Given the description of an element on the screen output the (x, y) to click on. 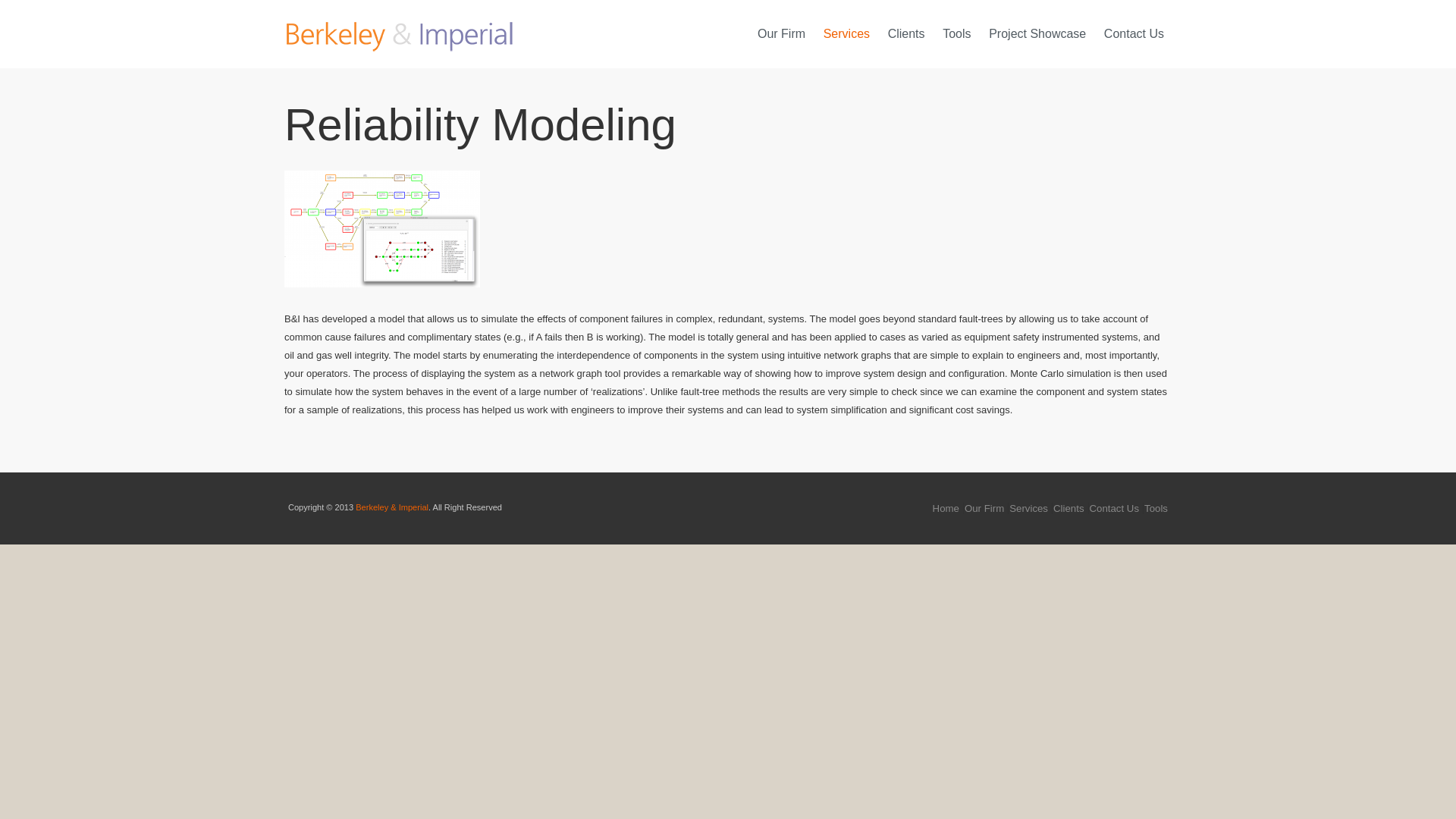
Tools (1155, 508)
Our Firm (780, 33)
Our Firm (983, 508)
Clients (1068, 508)
Project Showcase (1037, 33)
Contact Us (1134, 33)
Home (946, 508)
Contact Us (1114, 508)
Services (1028, 508)
Services (846, 33)
